Given the description of an element on the screen output the (x, y) to click on. 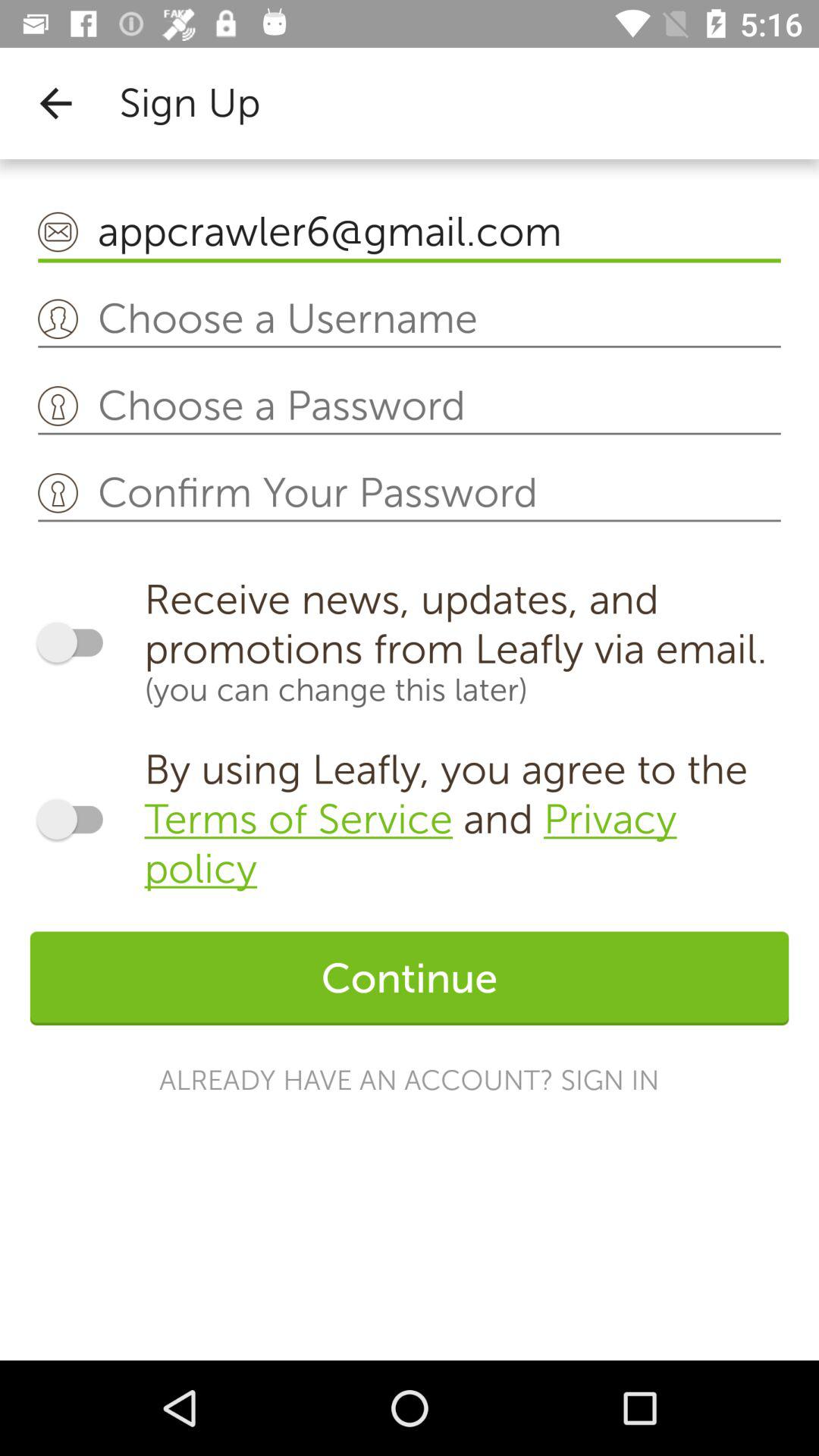
scroll until the already have an item (409, 1080)
